Given the description of an element on the screen output the (x, y) to click on. 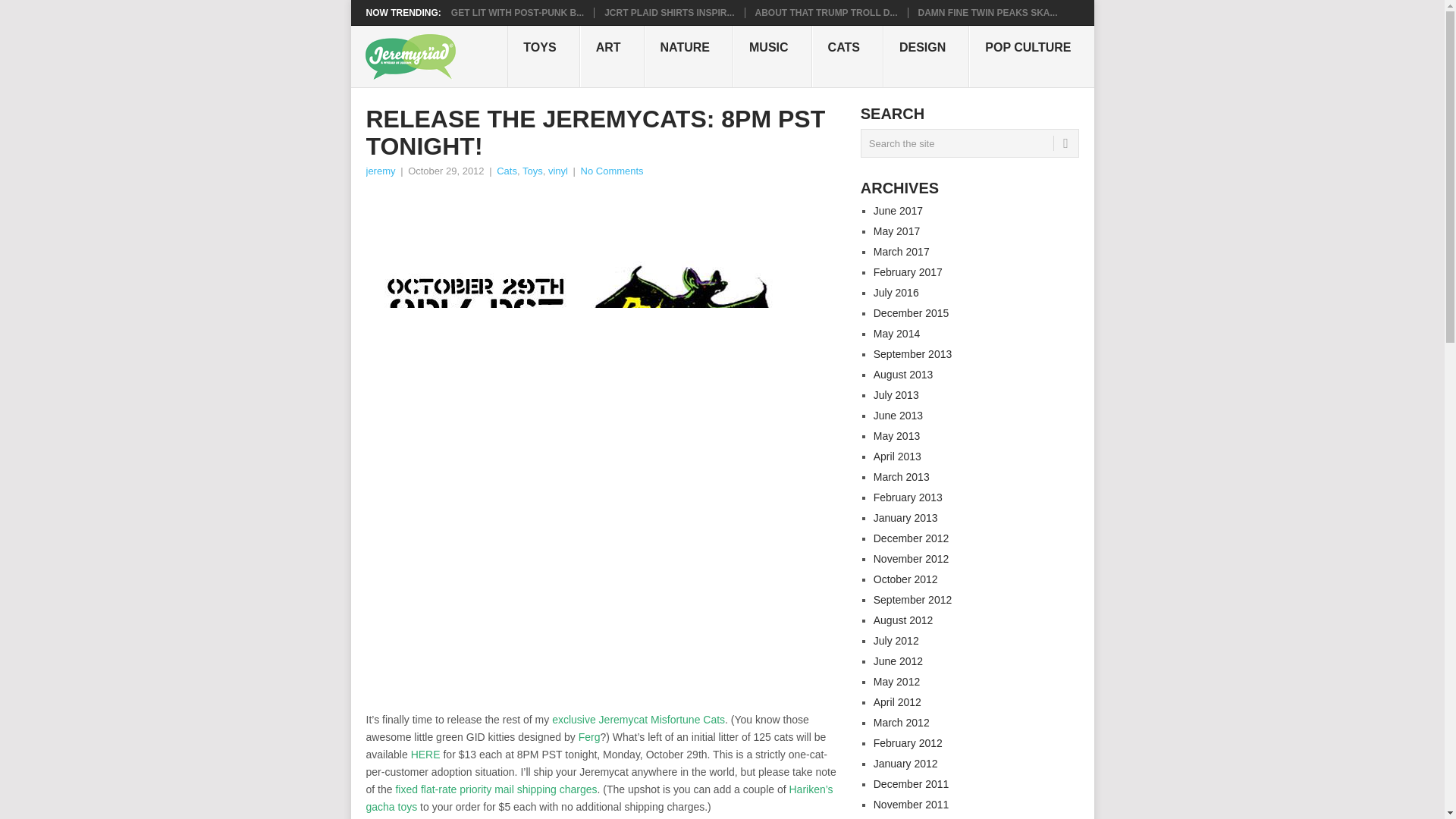
TOYS (542, 56)
NATURE (689, 56)
DESIGN (926, 56)
About That Trump Troll Doll by Chuck Williams (826, 12)
ABOUT THAT TRUMP TROLL D... (826, 12)
Get Lit with Post-Punk Band The Chameleons (517, 12)
Damn Fine Twin Peaks Skateboards (988, 12)
ART (612, 56)
JCRT Plaid Shirts Inspired by 80s and 90s Alt Records (668, 12)
